Given the description of an element on the screen output the (x, y) to click on. 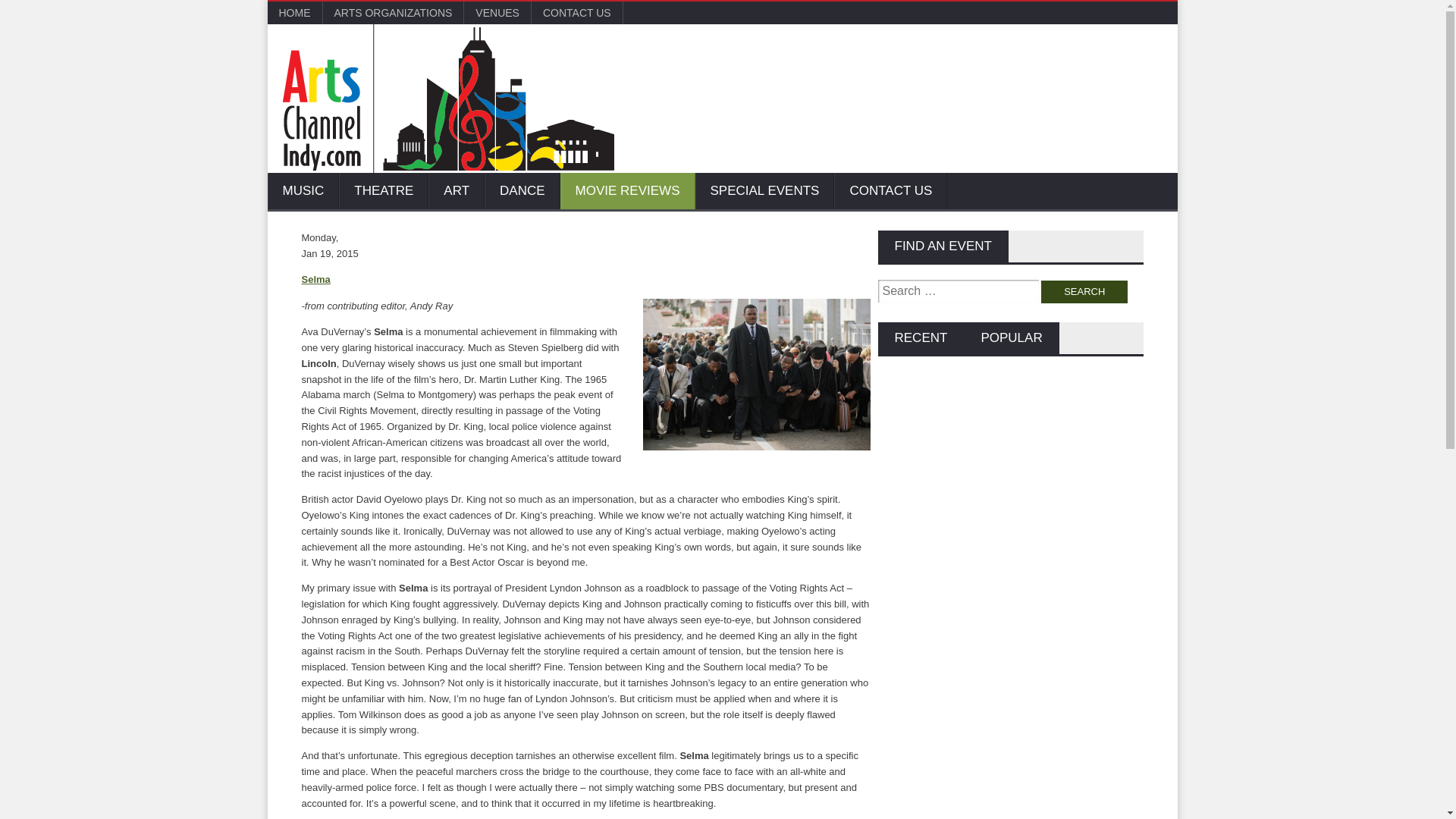
Arts Channel Indy (447, 98)
DANCE (522, 190)
Search (1083, 291)
POPULAR (1010, 337)
CONTACT US (577, 12)
VENUES (497, 12)
ARTS ORGANIZATIONS (393, 12)
ART (456, 190)
SPECIAL EVENTS (764, 190)
MOVIE REVIEWS (627, 190)
THEATRE (383, 190)
RECENT (920, 337)
Search (1083, 291)
CONTACT US (890, 190)
HOME (293, 12)
